Given the description of an element on the screen output the (x, y) to click on. 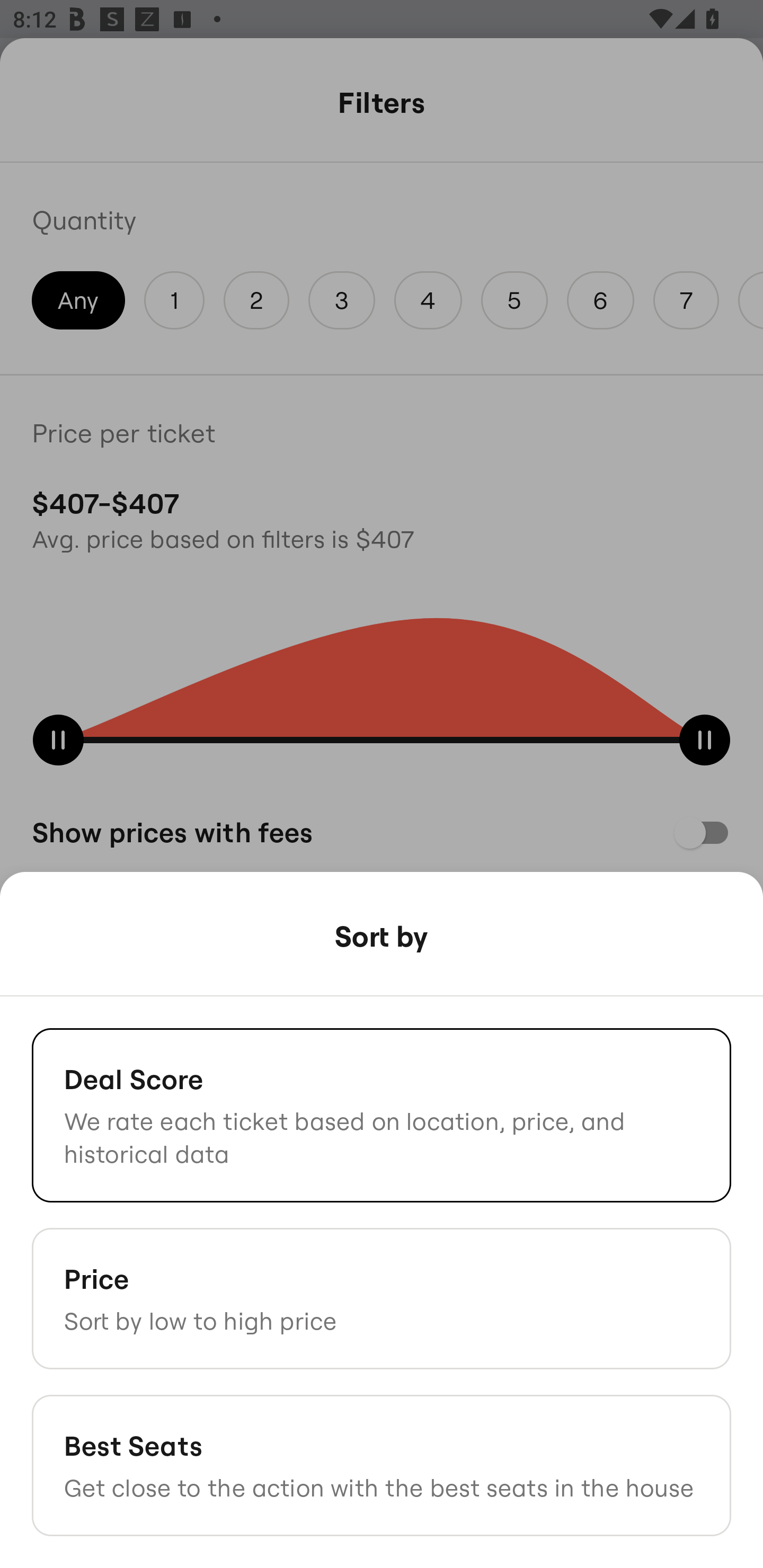
Price Sort by low to high price (381, 1297)
